Given the description of an element on the screen output the (x, y) to click on. 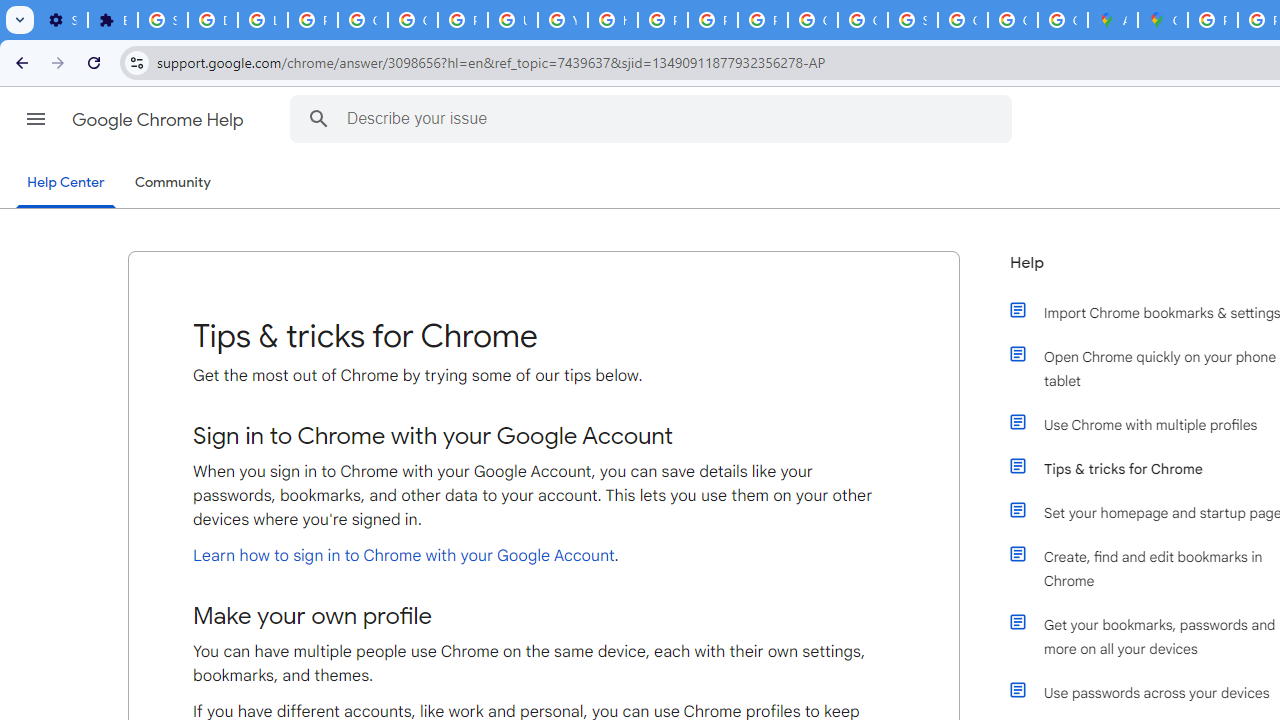
Sign in - Google Accounts (163, 20)
Settings - On startup (62, 20)
https://scholar.google.com/ (612, 20)
Google Account Help (362, 20)
